Given the description of an element on the screen output the (x, y) to click on. 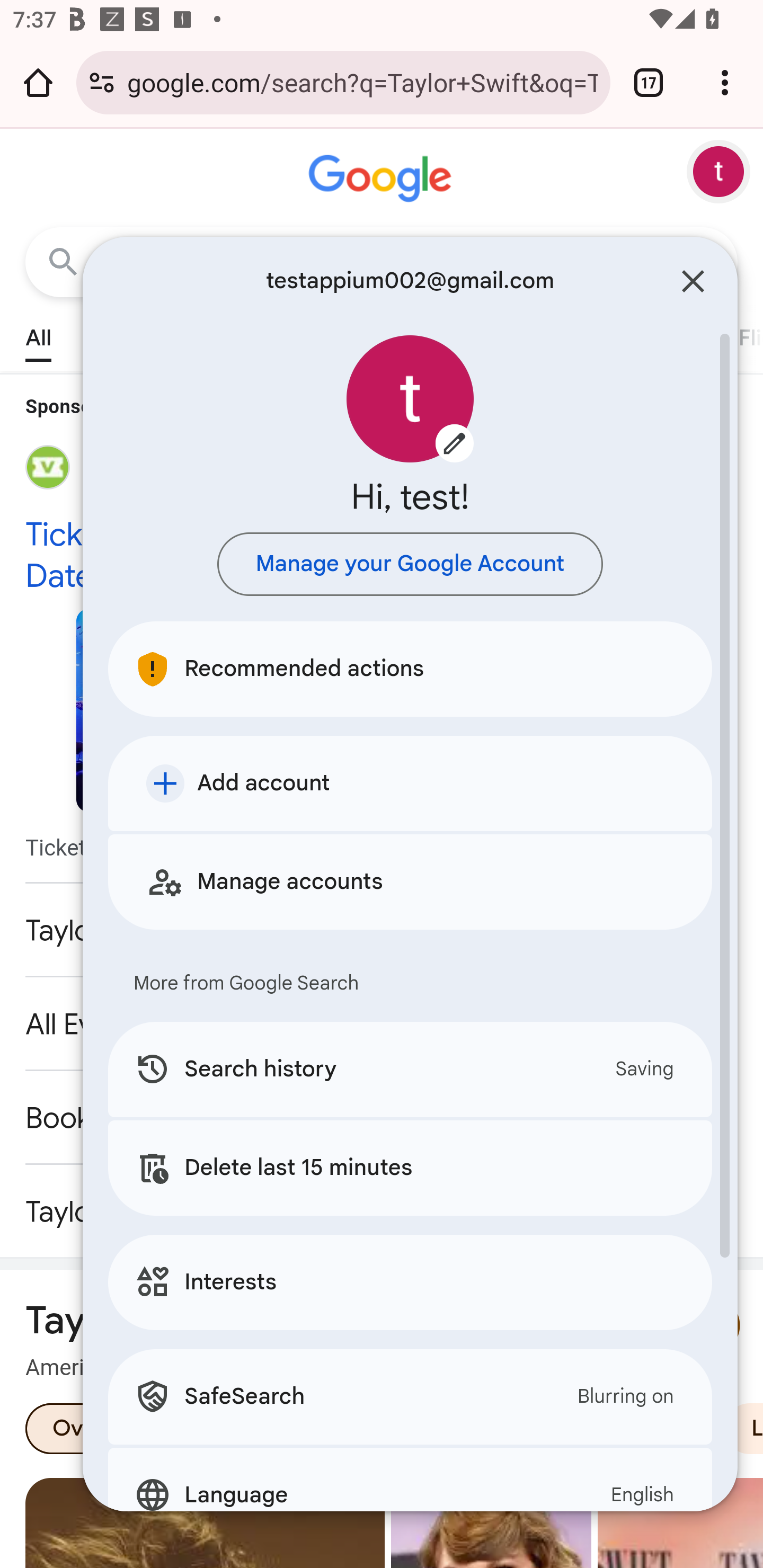
Open the home page (38, 82)
Connection is secure (101, 82)
Switch or close tabs (648, 82)
Customize and control Google Chrome (724, 82)
Google (381, 179)
Close menu (692, 281)
Change profile picture (409, 398)
Manage your Google Account (409, 564)
Recommended actions (409, 668)
Add account (409, 783)
Manage accounts (409, 881)
Delete last 15 minutes (409, 1168)
interests Interests interests Interests (409, 1282)
